Given the description of an element on the screen output the (x, y) to click on. 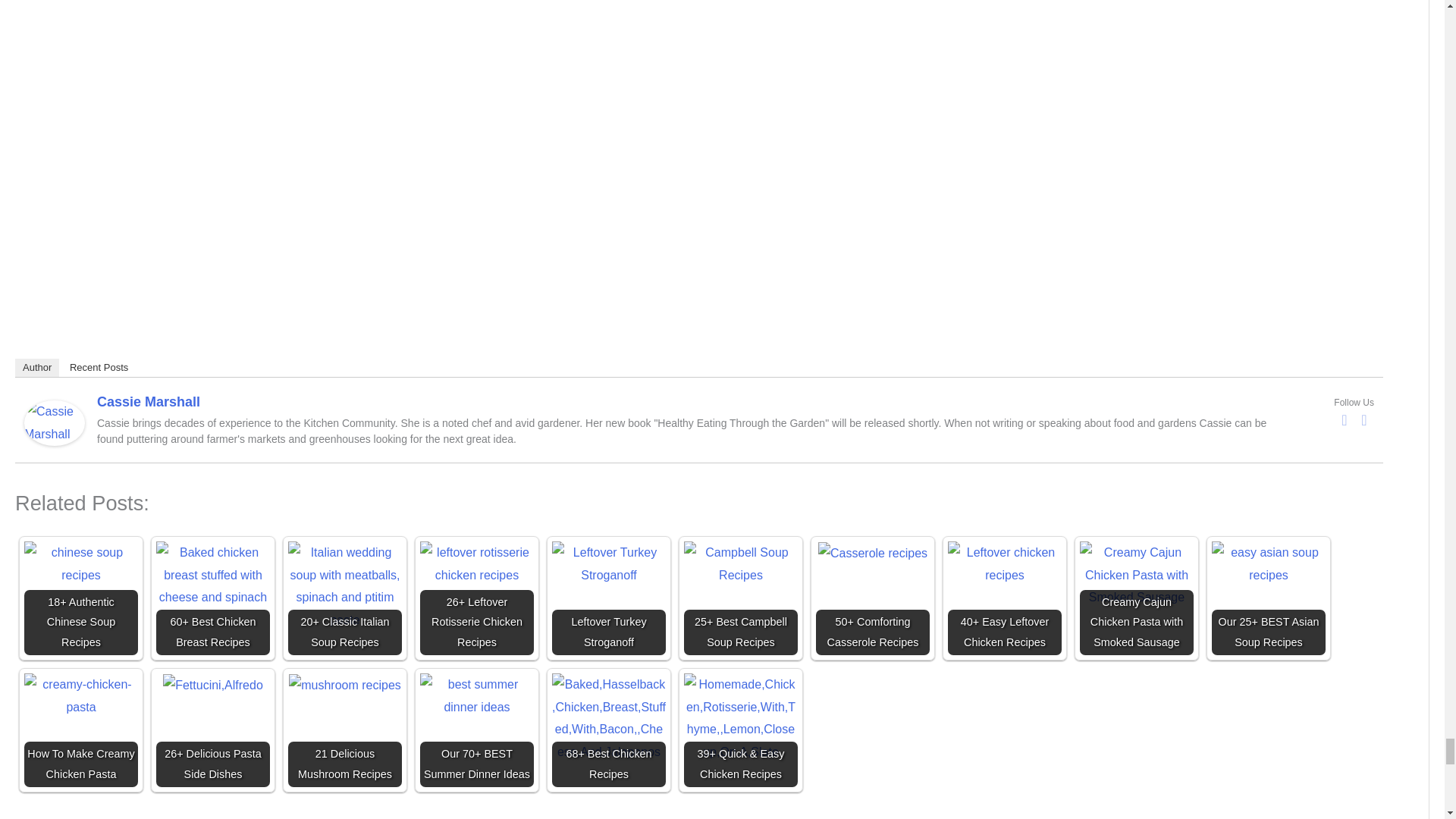
Leftover Turkey Stroganoff (608, 563)
Cassie Marshall (54, 421)
Facebook (1344, 420)
Twitter (1364, 420)
